Given the description of an element on the screen output the (x, y) to click on. 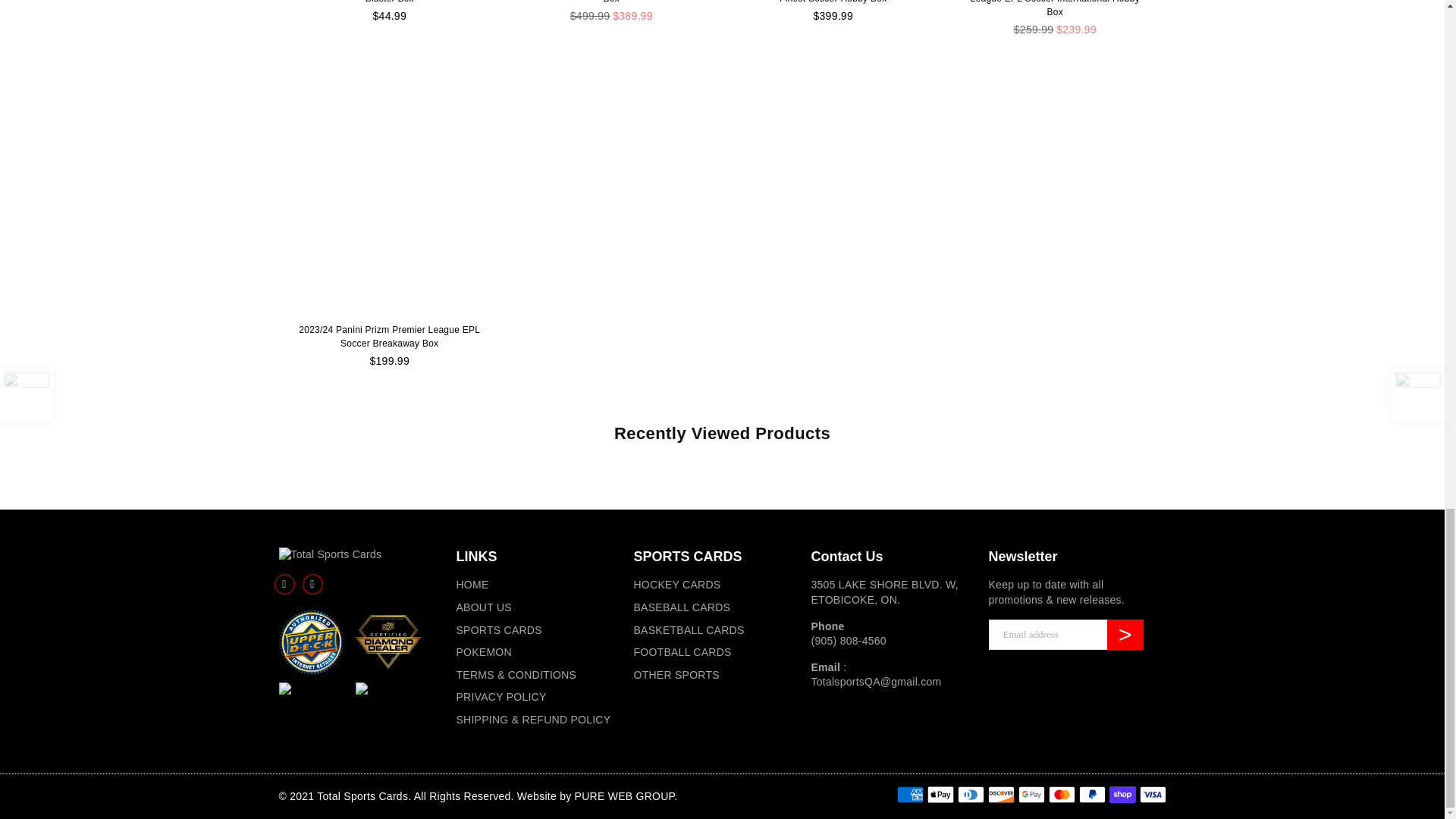
Visa (1152, 794)
American Express (909, 794)
Discover (1000, 794)
Google Pay (1030, 794)
Apple Pay (939, 794)
Diners Club (970, 794)
Mastercard (1061, 794)
Shop Pay (1121, 794)
PayPal (1091, 794)
